Given the description of an element on the screen output the (x, y) to click on. 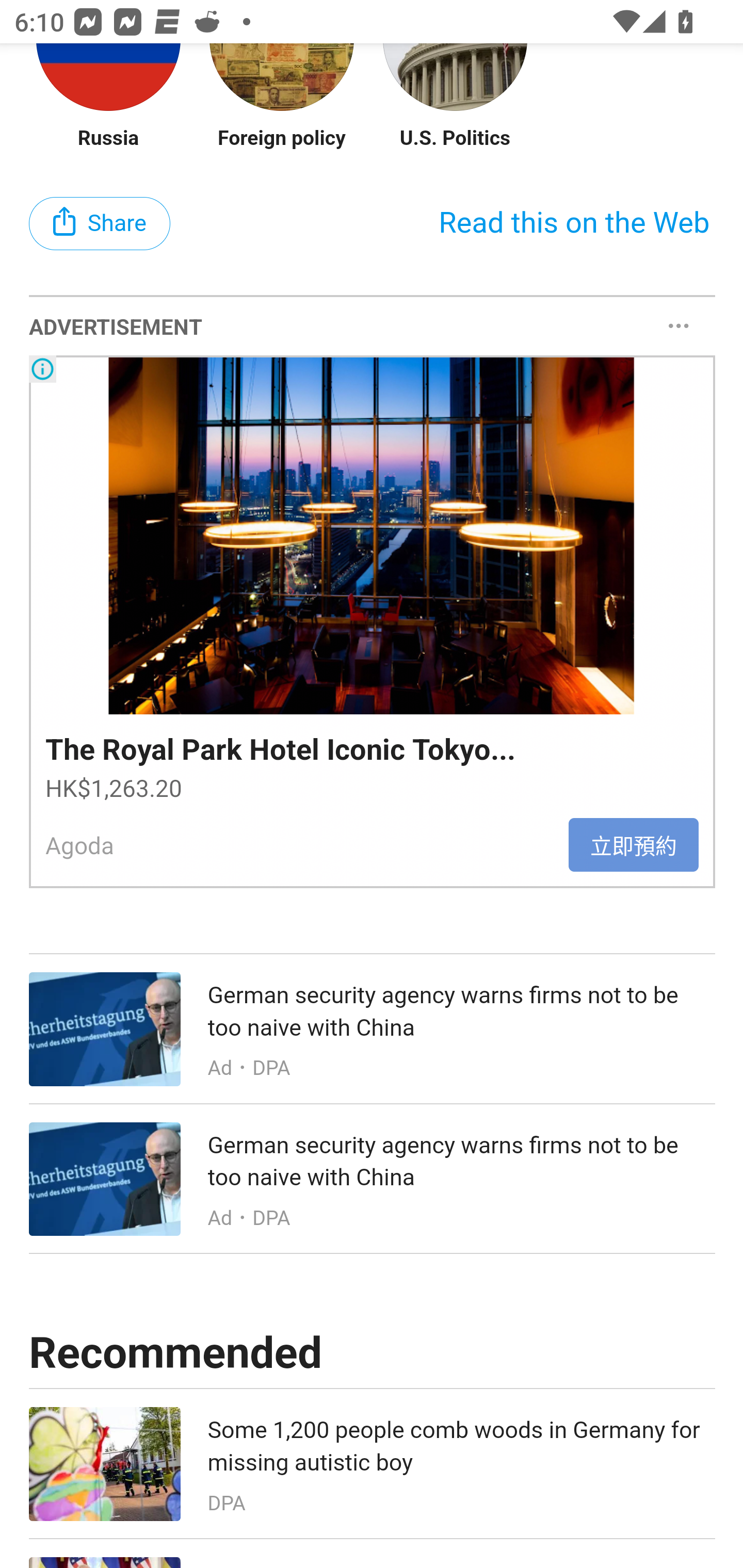
Russia (108, 138)
Foreign policy (281, 138)
U.S. Politics (454, 138)
Read this on the Web (573, 224)
Share (99, 224)
